Given the description of an element on the screen output the (x, y) to click on. 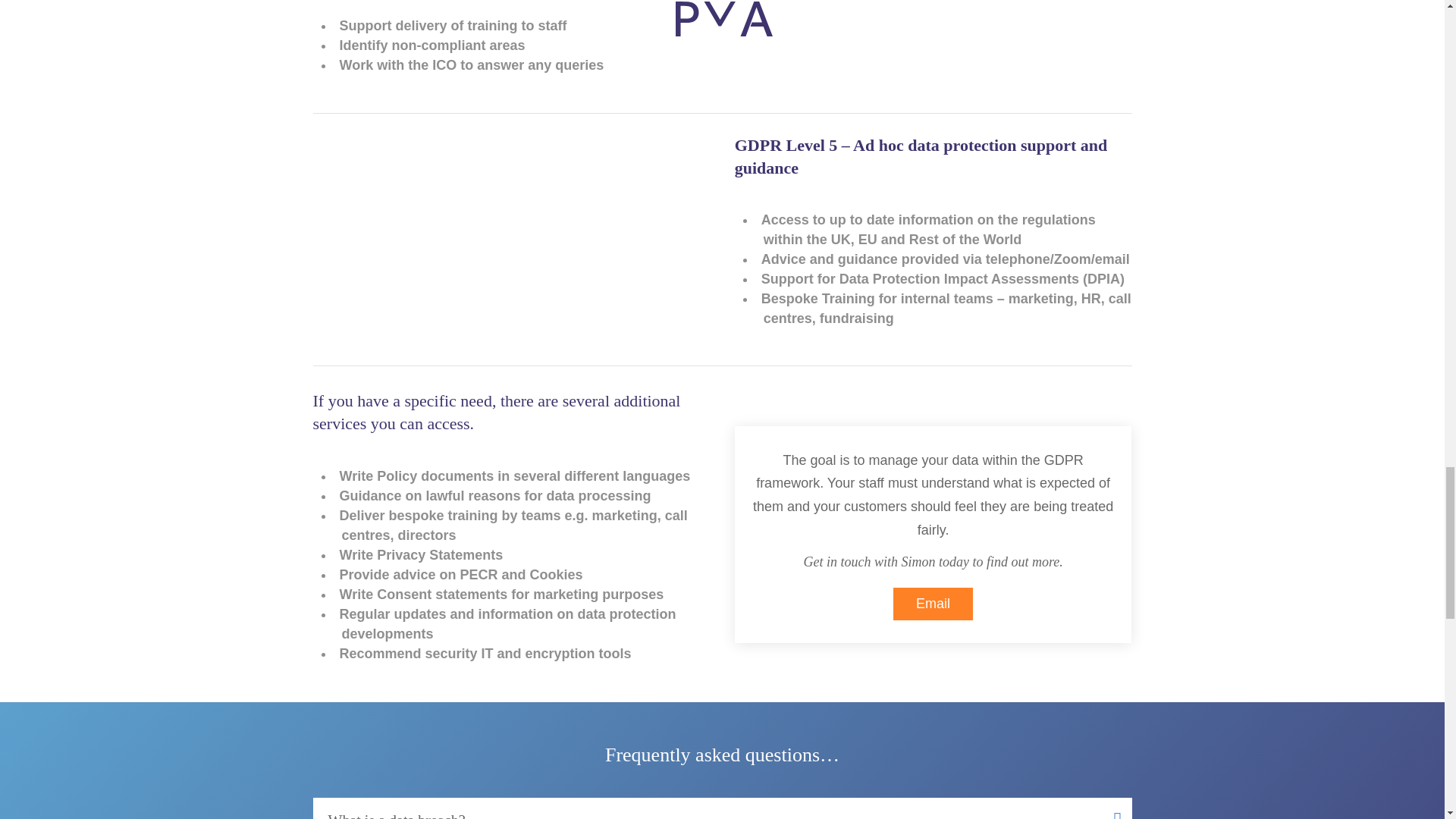
Email (932, 603)
